Given the description of an element on the screen output the (x, y) to click on. 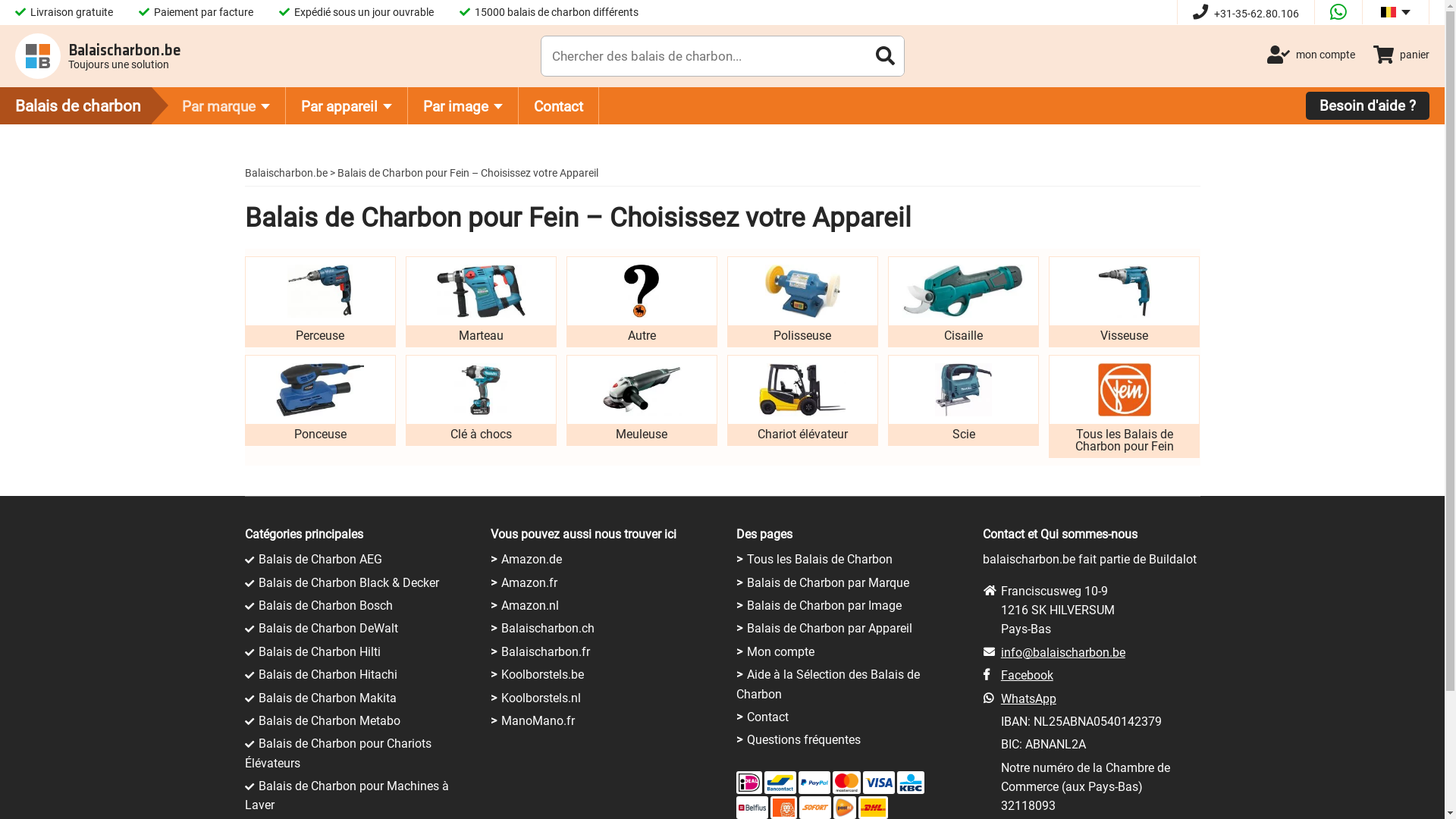
Koolborstels.be Element type: text (542, 674)
Balais de Charbon Hitachi Element type: text (326, 674)
Par image Element type: text (462, 105)
Balaischarbon.be
Toujours une solution Element type: text (97, 55)
+31-35-62.80.106 Element type: text (1245, 13)
Belfius-logo Element type: hover (751, 807)
info@balaischarbon.be Element type: text (1063, 652)
Polisseuse Element type: text (802, 301)
Marteau Element type: text (480, 301)
Perceuse Element type: text (319, 301)
Meuleuse Element type: text (641, 399)
Besoin d'aide ? Element type: text (1367, 105)
Amazon.fr Element type: text (529, 582)
cissaile Element type: hover (962, 290)
Mastercard-logo Element type: hover (846, 782)
Amazon.nl Element type: text (529, 605)
ING-logo Element type: hover (782, 807)
marteau Element type: hover (480, 290)
KBC-logo Element type: hover (910, 782)
Balais de charbon Element type: text (90, 105)
Mon compte Element type: text (780, 651)
Par appareil Element type: text (346, 105)
Balais de Charbon Makita Element type: text (326, 697)
forklift truck 2 Element type: hover (802, 389)
Tous les Balais de Charbon Element type: text (819, 559)
Autre Element type: text (641, 301)
cle-a-chocs Element type: hover (480, 389)
Balais de Charbon DeWalt Element type: text (327, 628)
Koolborstels.nl Element type: text (540, 697)
ManoMano.fr Element type: text (537, 720)
Sofort-logo Element type: hover (814, 806)
PayPal-logo Element type: hover (814, 782)
Balais de Charbon AEG Element type: text (319, 559)
PostNL-logo Element type: hover (844, 807)
Balais de Charbon Hilti Element type: text (318, 651)
Visa-logo Element type: hover (878, 782)
be Element type: hover (1388, 11)
Contact Element type: text (767, 716)
Tous les Balais de Charbon pour Fein Element type: text (1123, 406)
Balais de Charbon par Marque Element type: text (827, 582)
Scie Element type: text (963, 399)
panier Element type: text (1401, 54)
Visseuse Element type: text (1123, 301)
mon compte Element type: text (1311, 54)
polisseuse Element type: hover (802, 290)
Contact Element type: text (558, 105)
Balais de Charbon par Image Element type: text (823, 605)
Balaischarbon.be Element type: text (285, 172)
Bancontact-logo Element type: hover (779, 782)
Cisaille Element type: text (963, 301)
scie Element type: hover (963, 389)
Facebook Element type: text (1027, 675)
undisturbed-01 Element type: hover (641, 290)
Par marque Element type: text (225, 105)
Balaischarbon.fr Element type: text (545, 651)
DHL-logo Element type: hover (872, 807)
Amazon.de Element type: text (531, 559)
Ponceuse Element type: text (319, 399)
ponceuse Element type: hover (320, 389)
perceuse Element type: hover (319, 290)
Balais de Charbon Metabo Element type: text (328, 720)
Balais de Charbon par Appareil Element type: text (829, 628)
Balaischarbon.ch Element type: text (547, 628)
fein Element type: hover (1124, 389)
WhatsApp Element type: text (1028, 698)
Balais de Charbon Black & Decker Element type: text (347, 582)
iDEAL-logo Element type: hover (748, 782)
Balais de Charbon Bosch Element type: text (324, 605)
meuleuse-angle Element type: hover (641, 389)
viseusse Element type: hover (1124, 290)
